Given the description of an element on the screen output the (x, y) to click on. 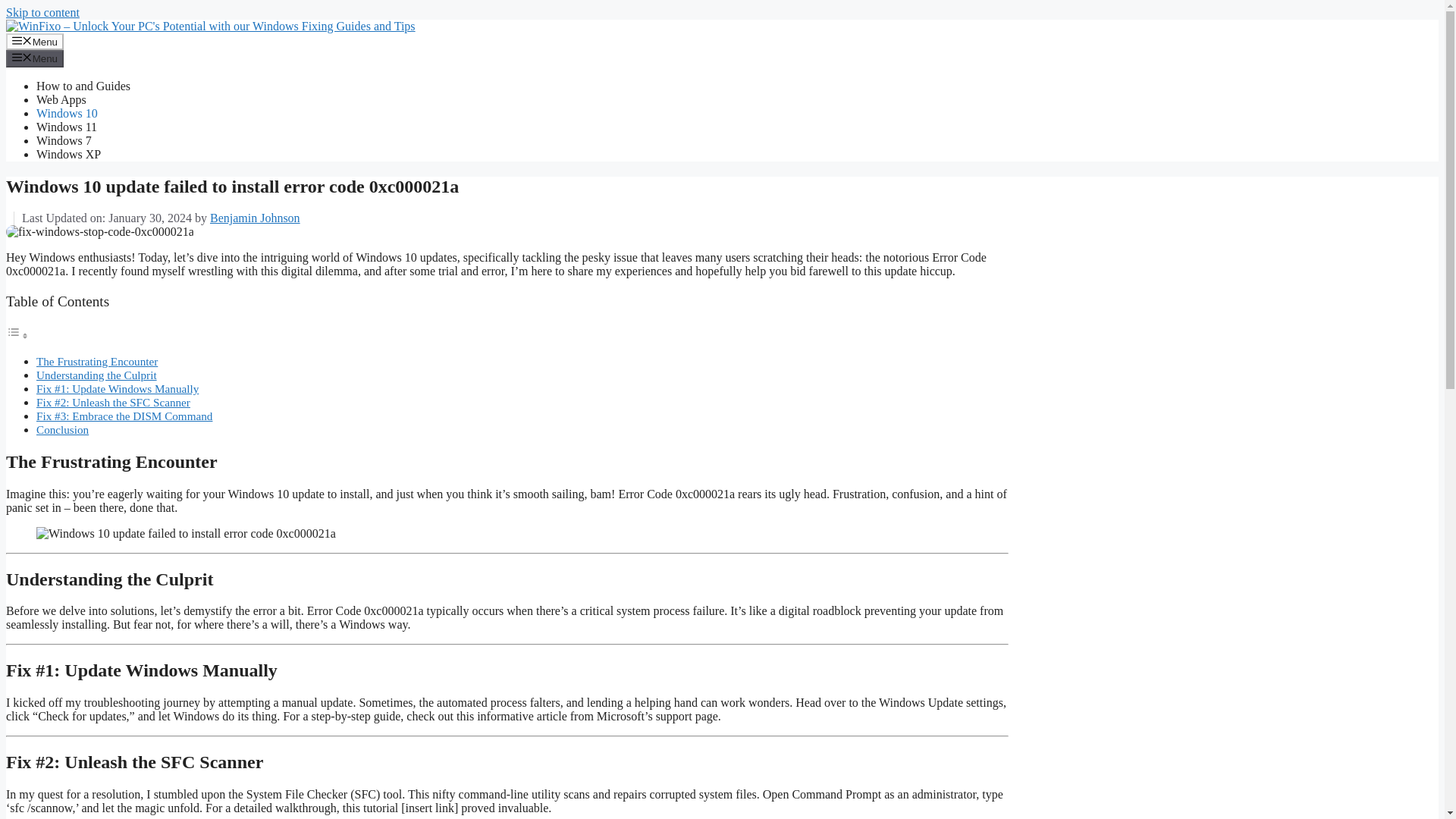
Windows 10 (66, 113)
Menu (34, 41)
Web Apps (60, 99)
Benjamin Johnson (254, 217)
Windows XP (68, 154)
The Frustrating Encounter (96, 360)
The Frustrating Encounter (96, 360)
Skip to content (42, 11)
How to and Guides (83, 85)
Windows 11 (66, 126)
Conclusion (62, 429)
Understanding the Culprit (96, 374)
Menu (34, 57)
Skip to content (42, 11)
Conclusion (62, 429)
